Given the description of an element on the screen output the (x, y) to click on. 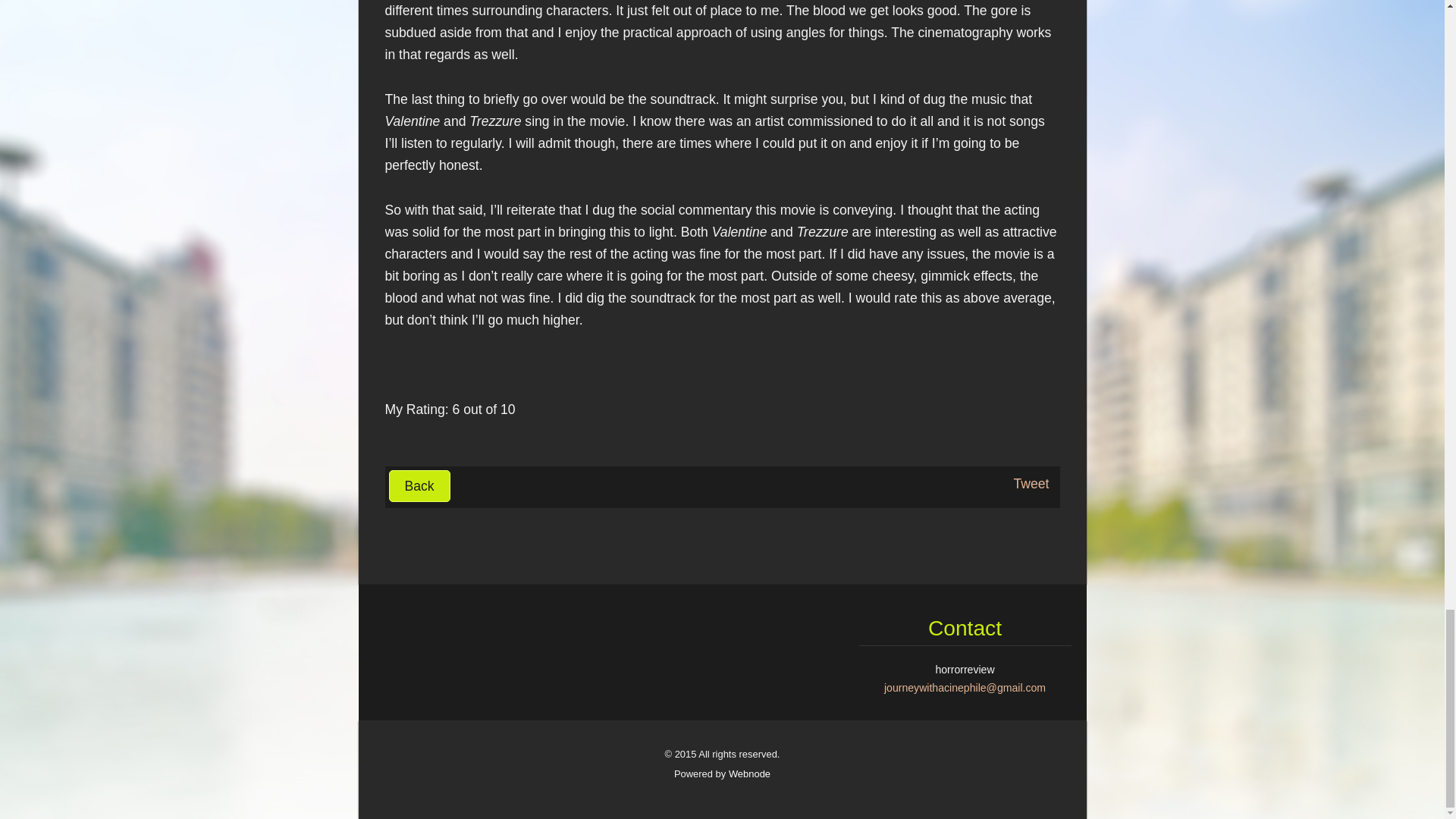
Webnode (749, 773)
Tweet (1031, 483)
Back (418, 486)
